Given the description of an element on the screen output the (x, y) to click on. 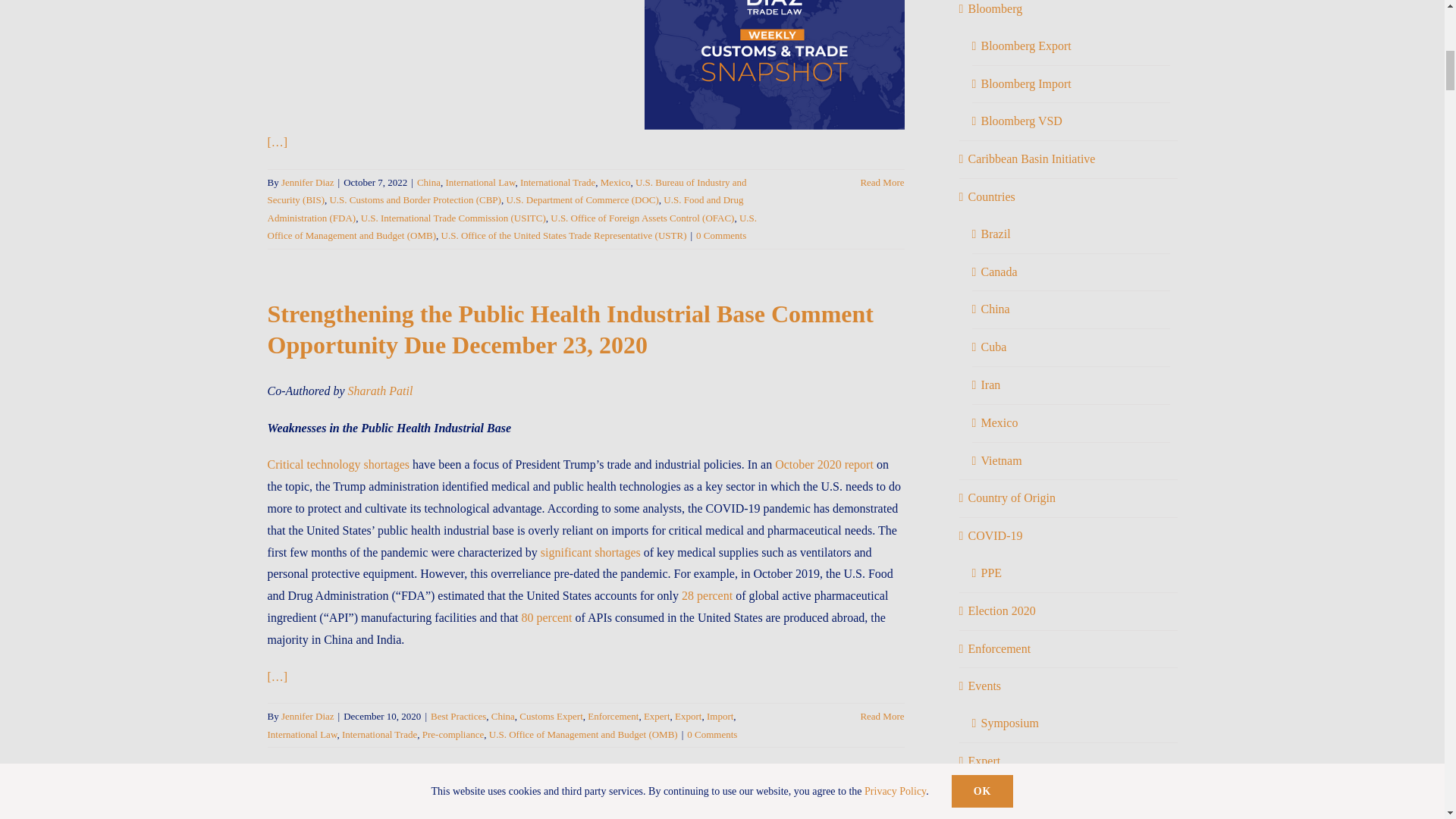
Posts by Jennifer Diaz (307, 182)
Posts by Jennifer Diaz (307, 715)
